Given the description of an element on the screen output the (x, y) to click on. 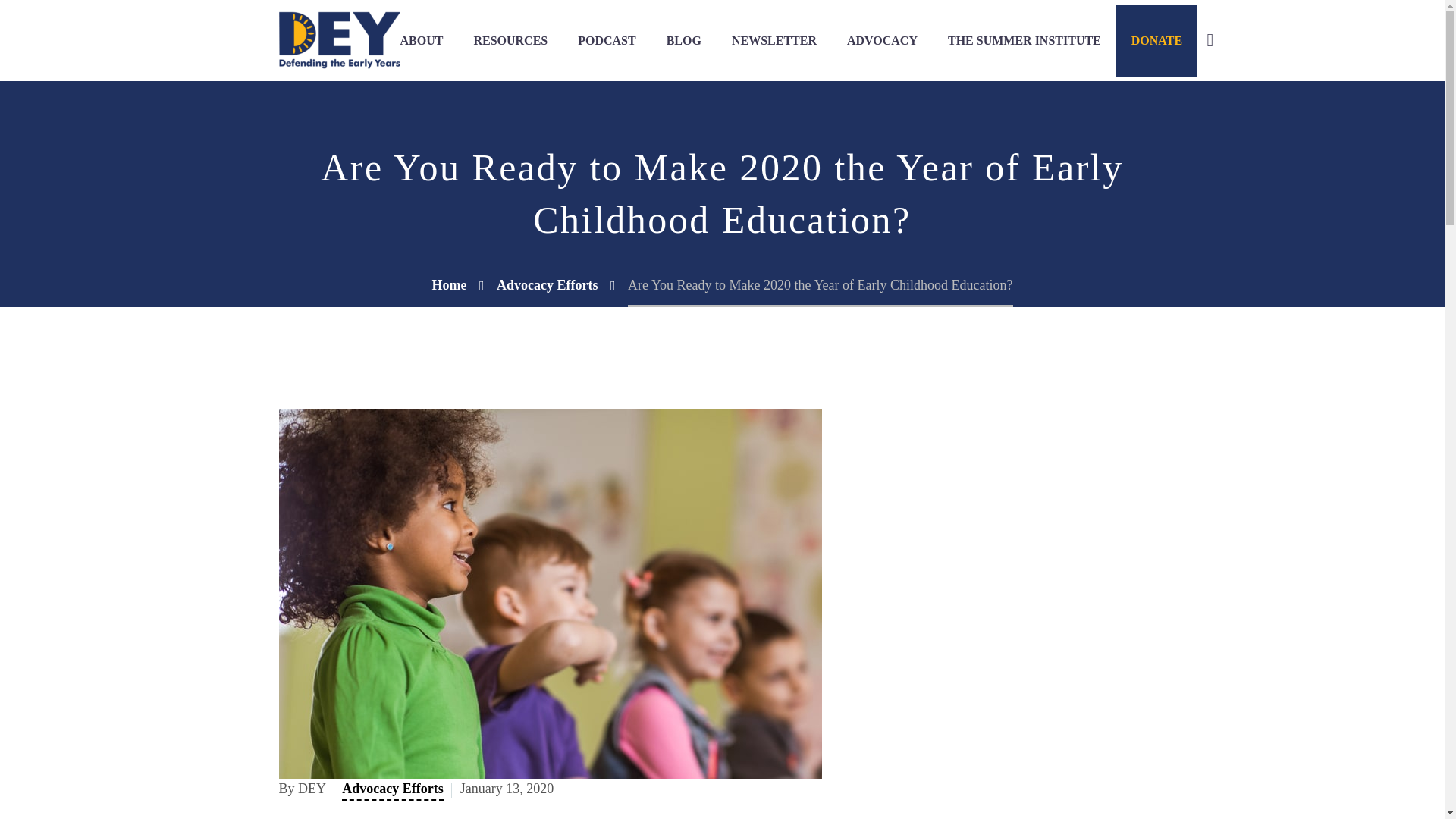
RESOURCES (510, 40)
BLOG (683, 40)
NEWSLETTER (773, 40)
ADVOCACY (882, 40)
THE SUMMER INSTITUTE (1024, 40)
ABOUT (421, 40)
View all posts in Advocacy Efforts (392, 789)
PODCAST (606, 40)
DONATE (1156, 40)
